Given the description of an element on the screen output the (x, y) to click on. 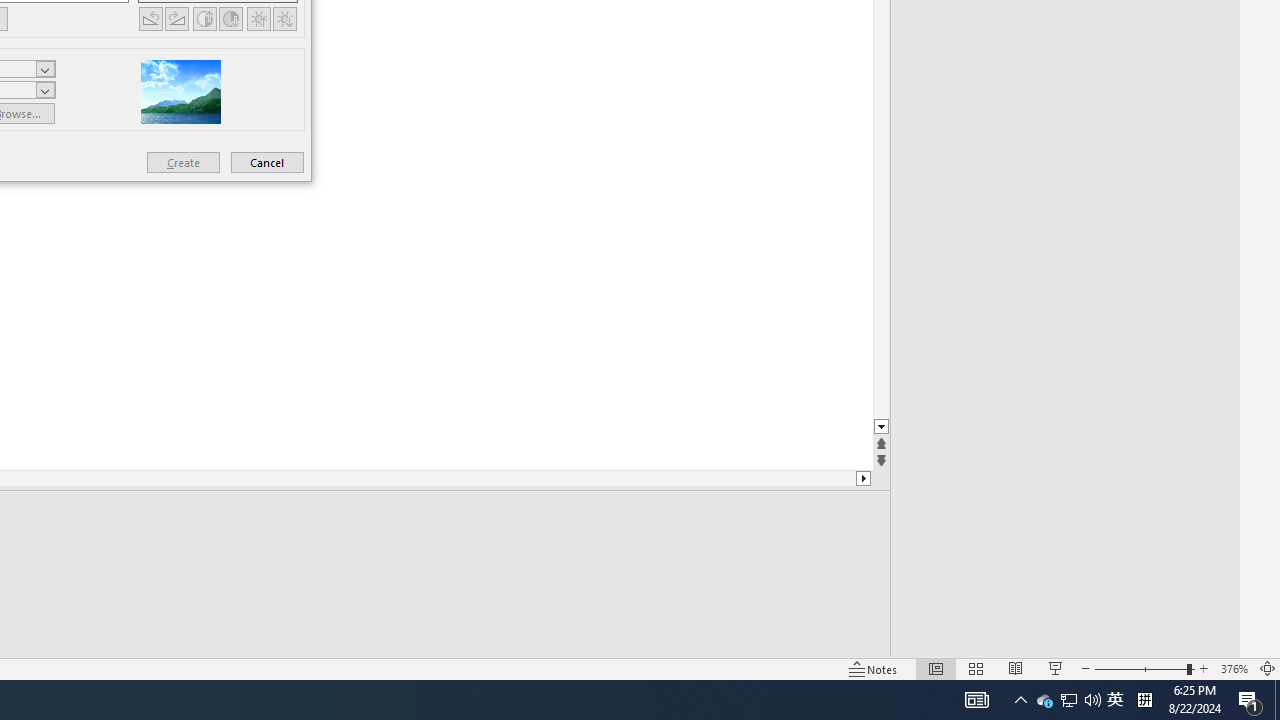
Zoom 376% (1234, 668)
